Given the description of an element on the screen output the (x, y) to click on. 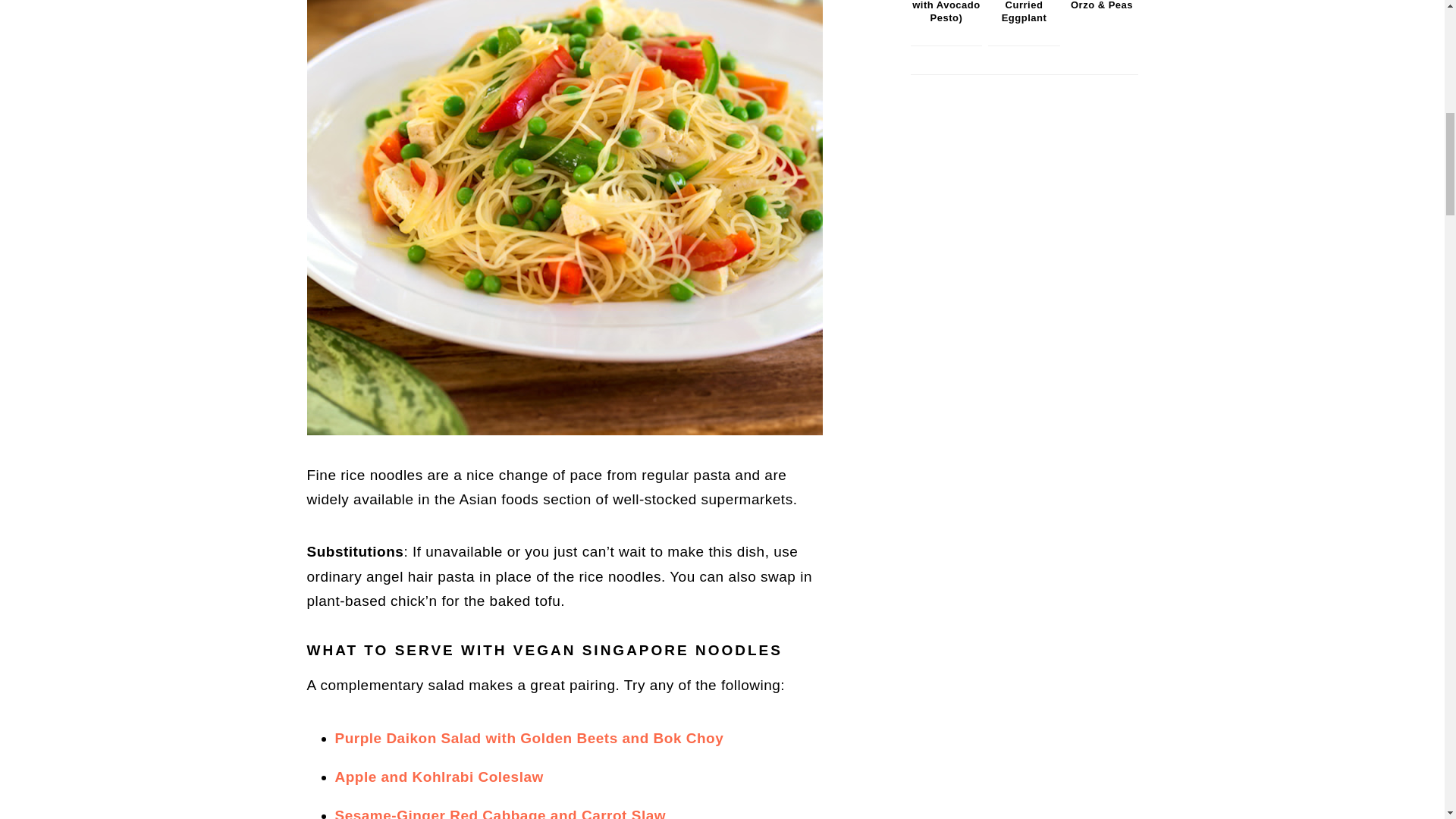
Purple Daikon Salad with Golden Beets and Bok Choy (528, 738)
Sesame-Ginger Red Cabbage and Carrot Slaw (500, 813)
Apple and Kohlrabi Coleslaw (438, 776)
